Given the description of an element on the screen output the (x, y) to click on. 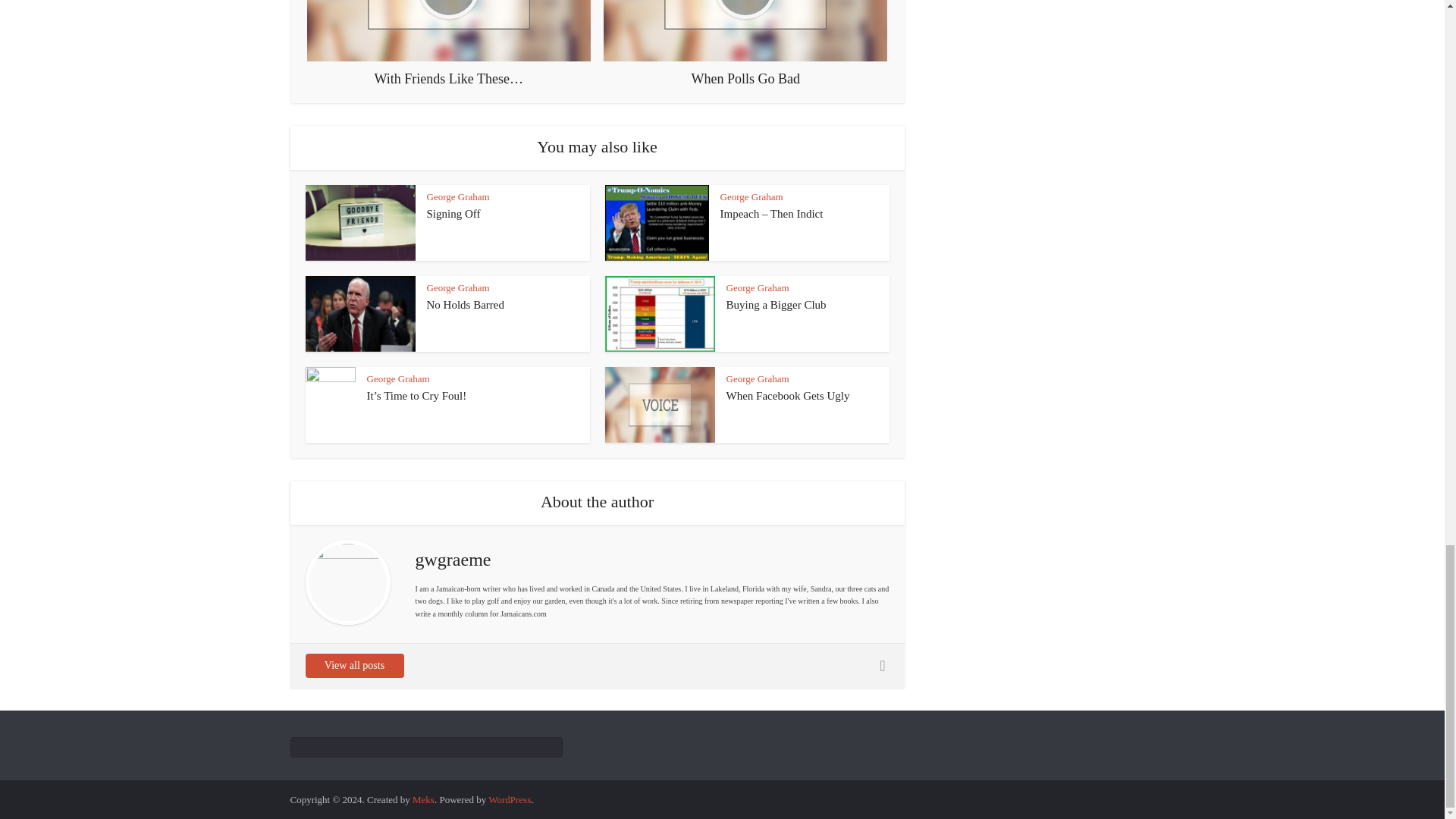
Signing Off (453, 214)
No Holds Barred (464, 304)
Buying a Bigger Club (776, 304)
When Polls Go Bad (745, 43)
When Facebook Gets Ugly (788, 395)
George Graham (457, 196)
Signing Off (453, 214)
